Given the description of an element on the screen output the (x, y) to click on. 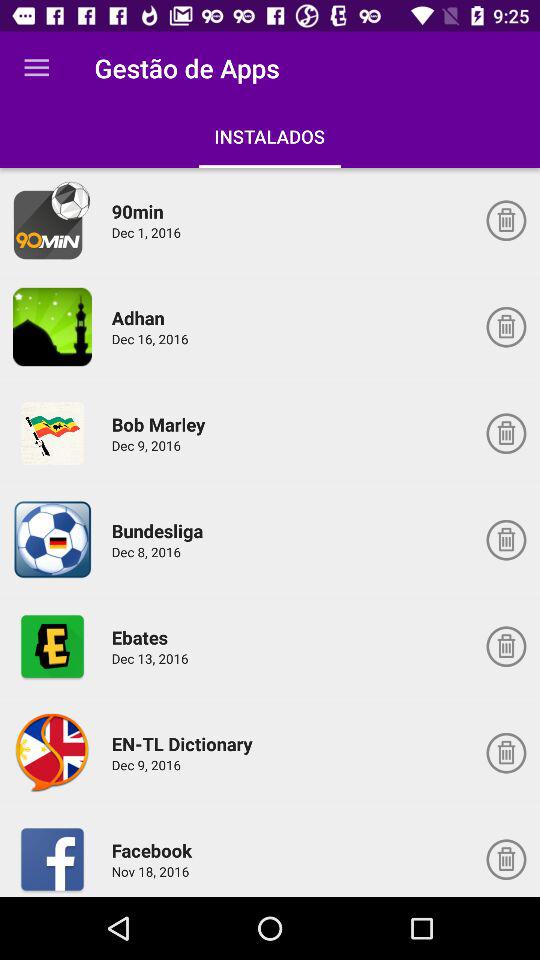
press the item above dec 13, 2016 icon (142, 637)
